Given the description of an element on the screen output the (x, y) to click on. 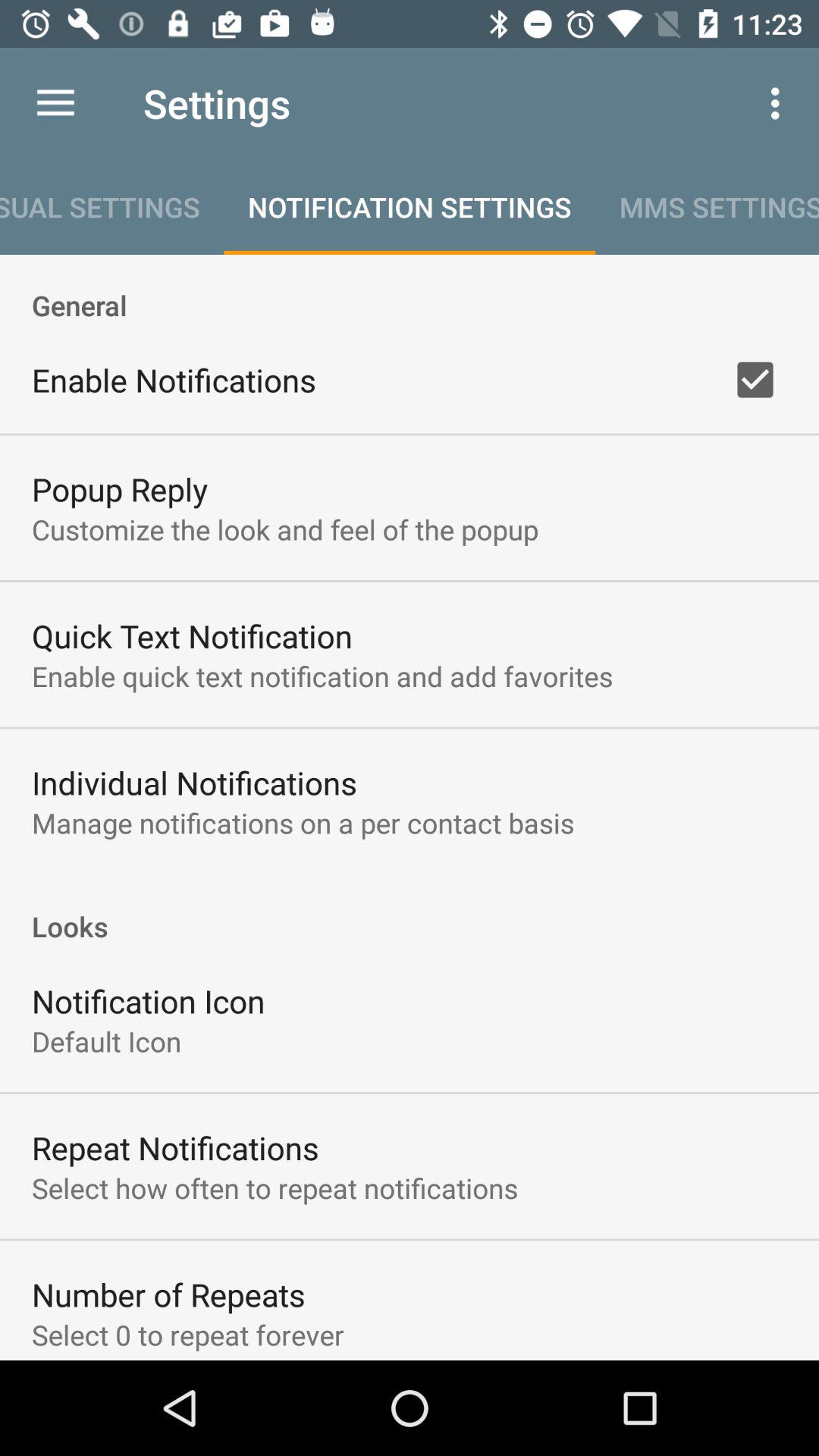
press the number of repeats icon (168, 1294)
